Given the description of an element on the screen output the (x, y) to click on. 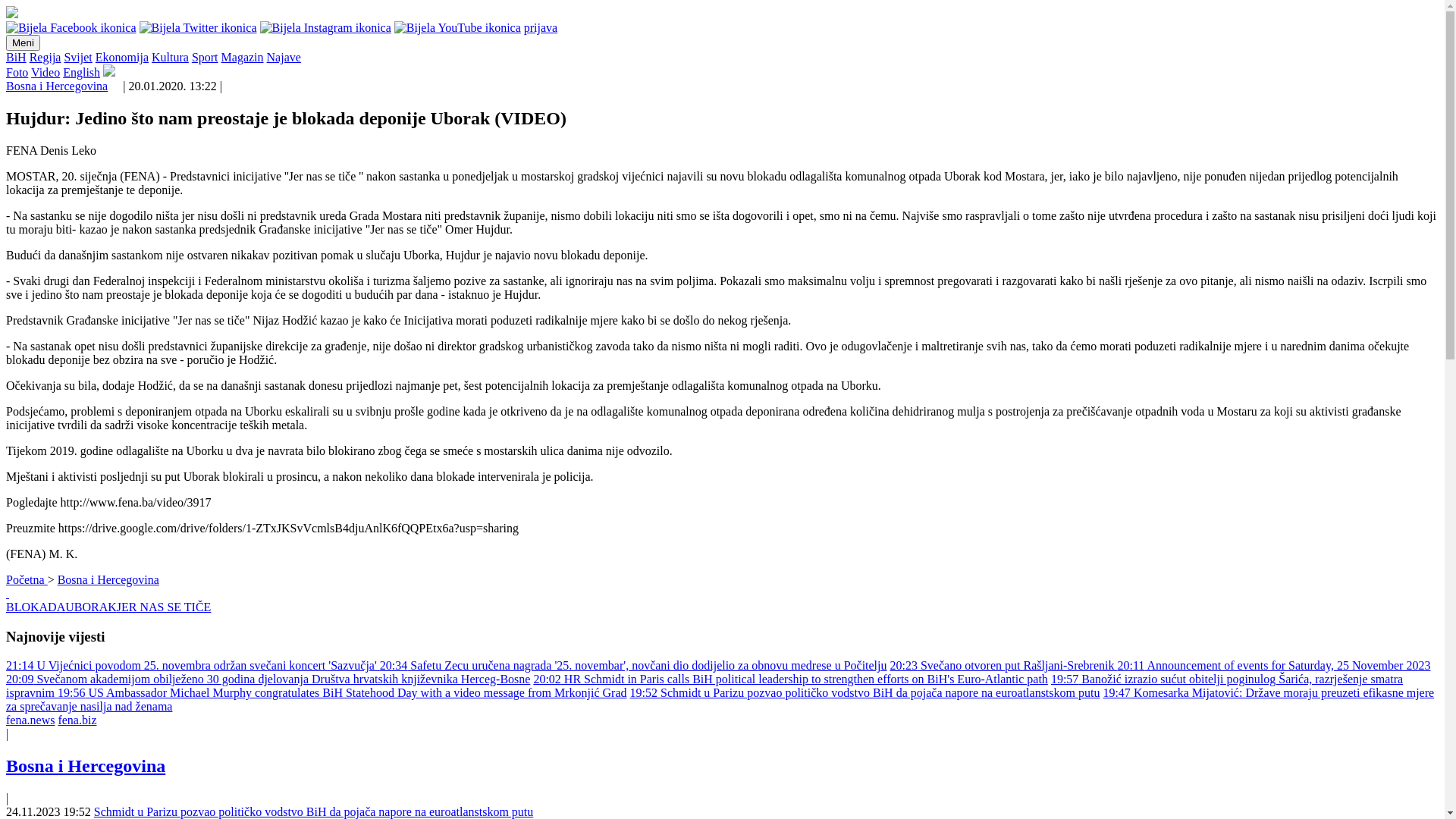
Video Element type: text (45, 71)
Sport Element type: text (204, 56)
Svijet Element type: text (77, 56)
Najave Element type: text (283, 56)
prijava Element type: text (540, 27)
Bosna i Hercegovina Element type: text (108, 579)
Meni Element type: text (23, 42)
fena.biz Element type: text (76, 719)
|
Bosna i Hercegovina
| Element type: text (722, 765)
Kultura Element type: text (169, 56)
Ekonomija Element type: text (121, 56)
UBORAK Element type: text (90, 606)
fena.news Element type: text (30, 719)
Regija Element type: text (45, 56)
Magazin Element type: text (242, 56)
Foto Element type: text (17, 71)
20:11 Announcement of events for Saturday, 25 November 2023 Element type: text (1273, 664)
Bosna i Hercegovina Element type: text (56, 85)
English Element type: text (81, 71)
BLOKADA Element type: text (35, 606)
BiH Element type: text (16, 56)
